Given the description of an element on the screen output the (x, y) to click on. 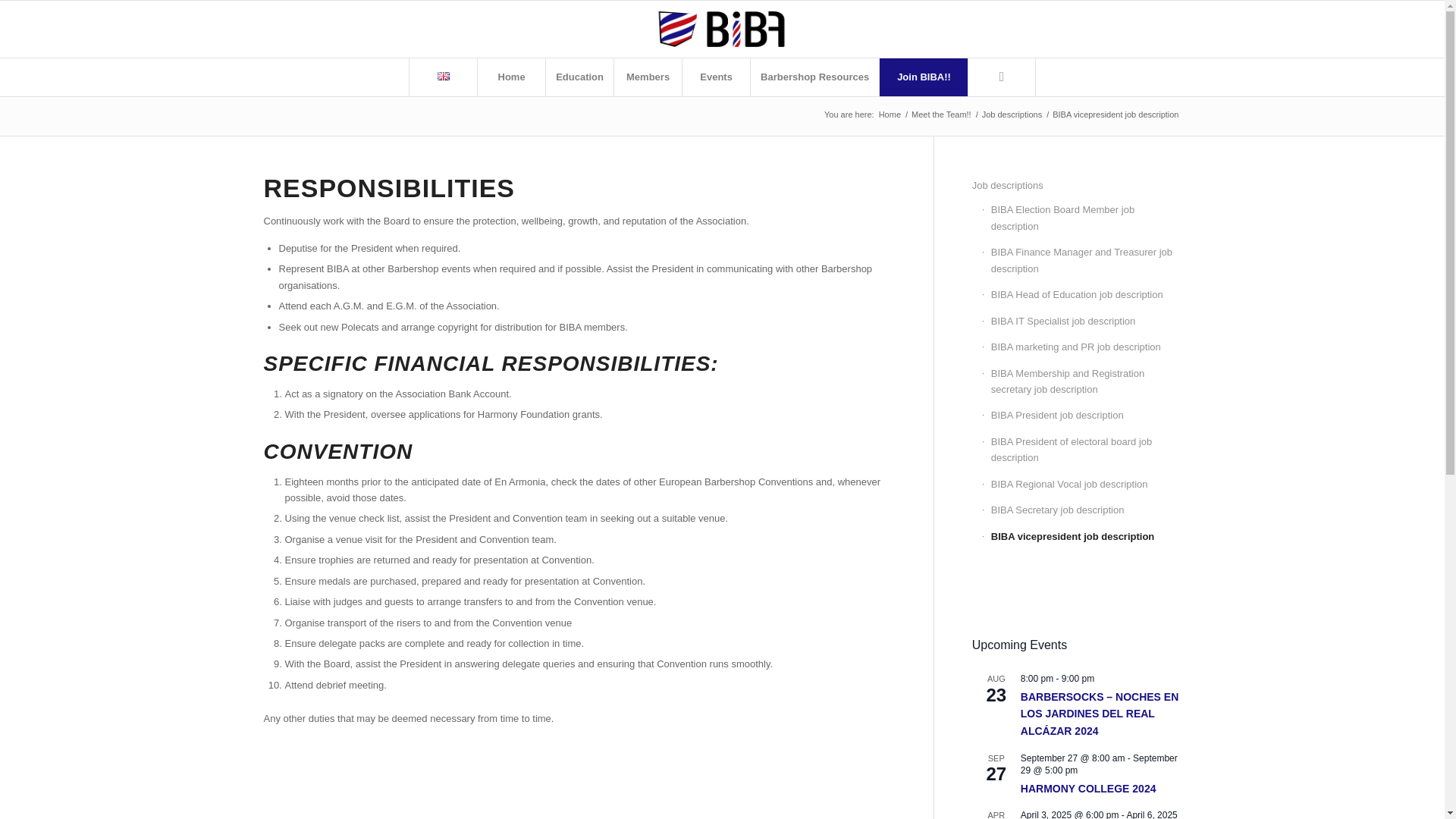
Job descriptions (1012, 114)
Meet the Team!! (941, 114)
Harmony College 2024 (1088, 788)
BIBA -  Barbershop of IBeria Association (889, 114)
